Given the description of an element on the screen output the (x, y) to click on. 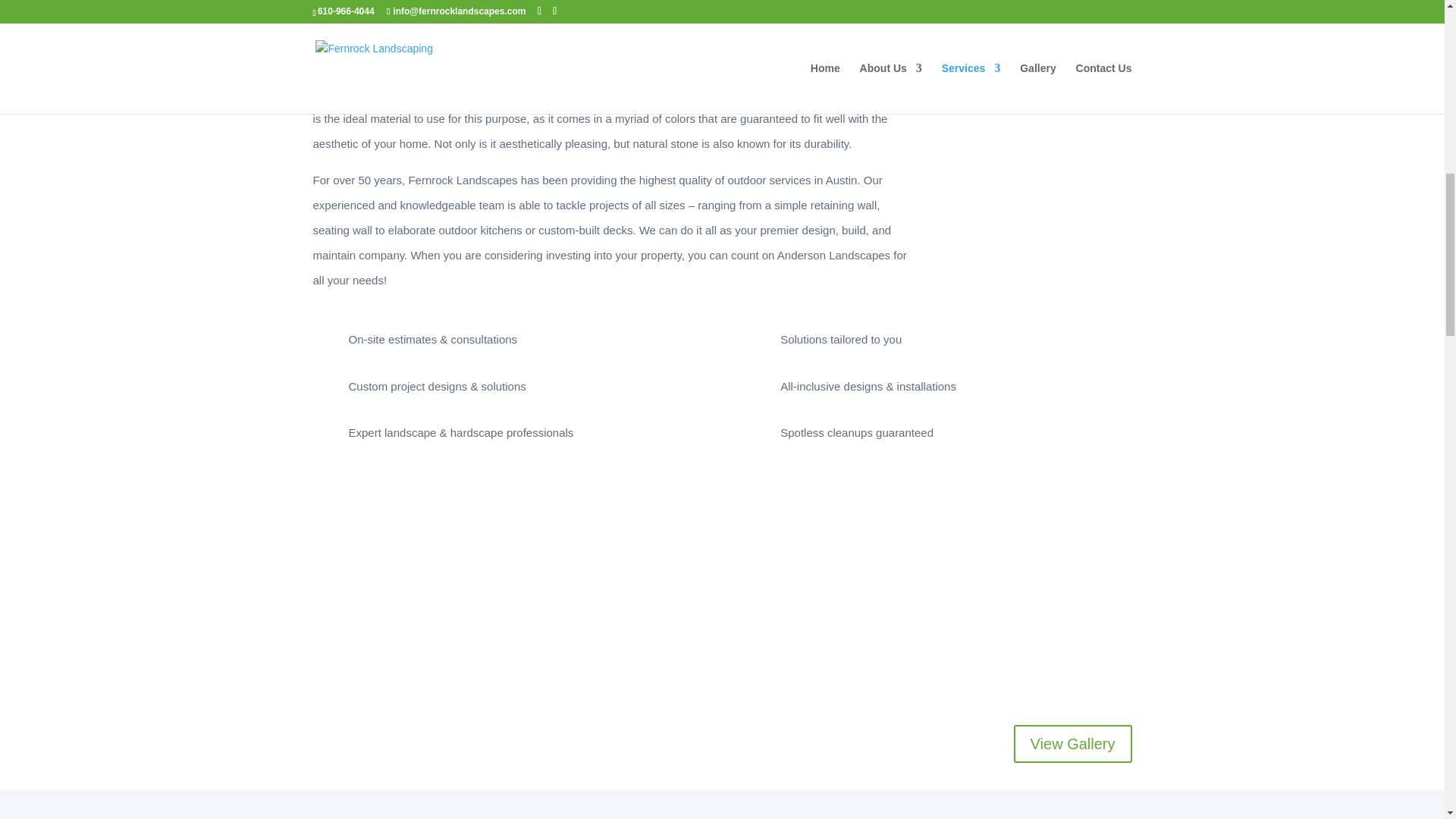
View Gallery (1072, 743)
